Given the description of an element on the screen output the (x, y) to click on. 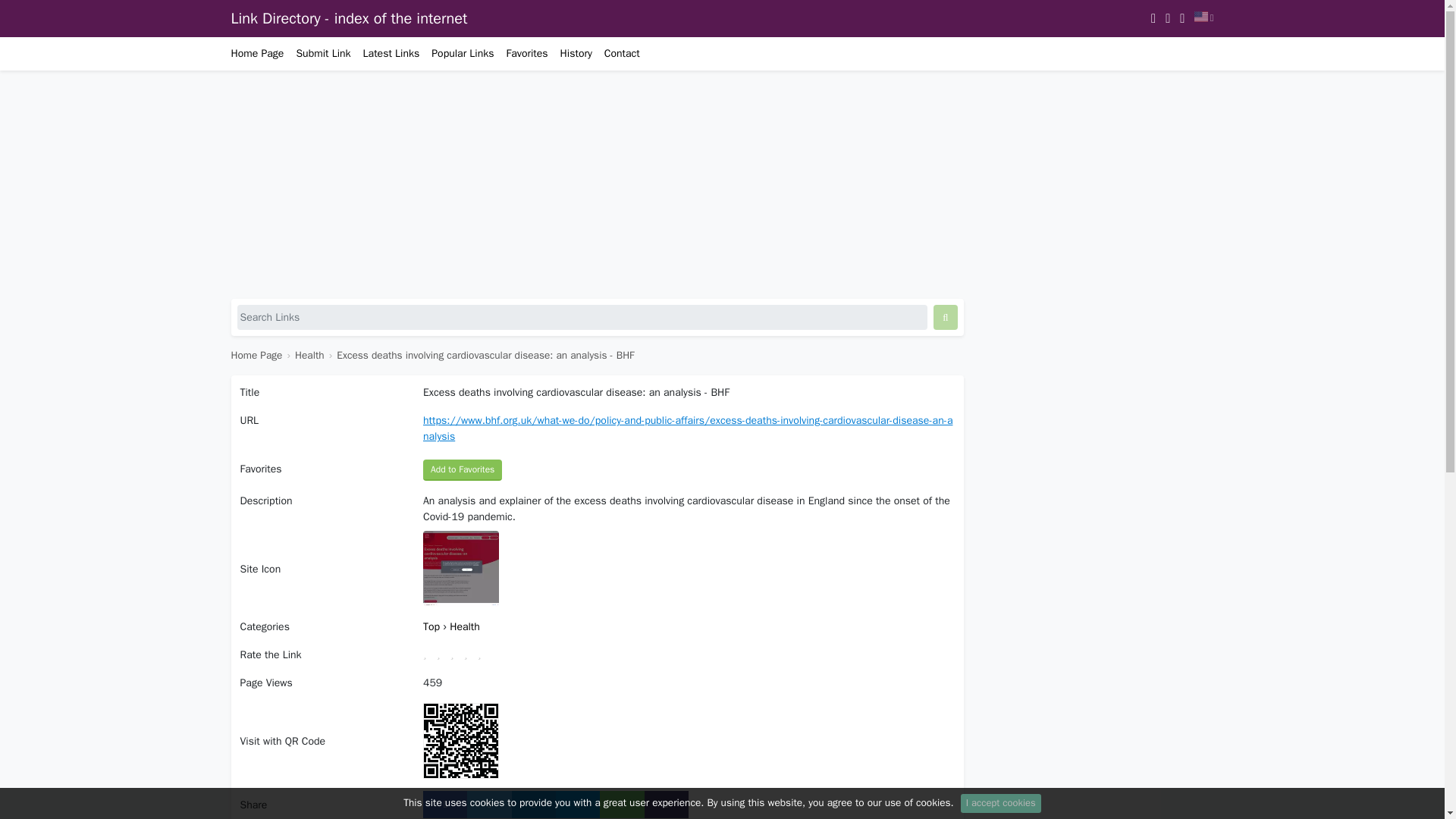
3 (456, 652)
5 (484, 652)
4 (470, 652)
Home Page (259, 53)
Top (432, 626)
History (576, 53)
Submit Link (322, 53)
Latest Links (391, 53)
1 (429, 652)
Add to Favorites (462, 469)
Health (309, 355)
Favorites (526, 53)
2 (442, 652)
Link Directory - index of the internet (348, 18)
